Given the description of an element on the screen output the (x, y) to click on. 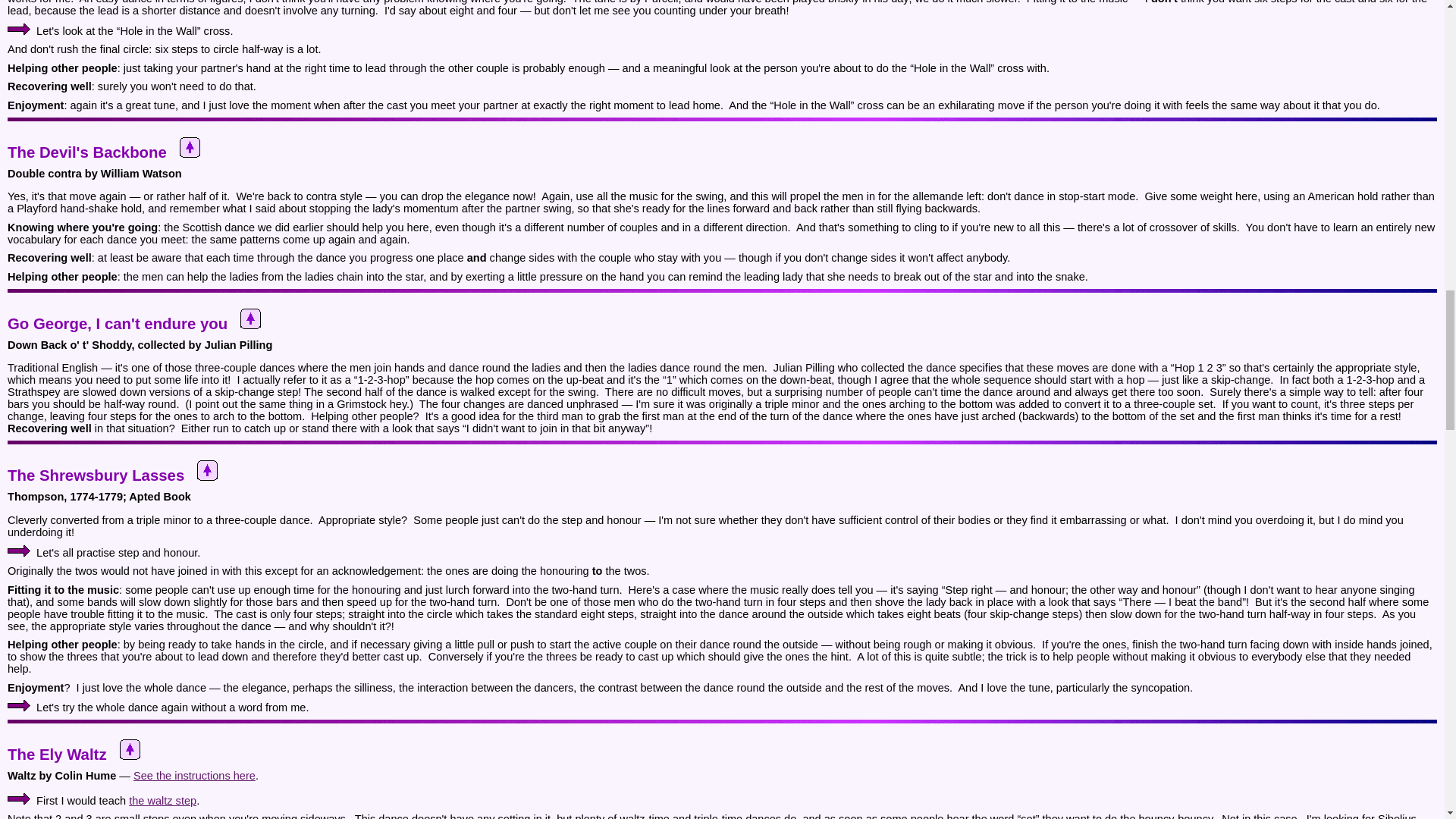
the waltz step (162, 800)
Top of page (189, 147)
Top of page (250, 318)
Top of page (129, 749)
Top of page (206, 470)
See the instructions here (194, 775)
